Given the description of an element on the screen output the (x, y) to click on. 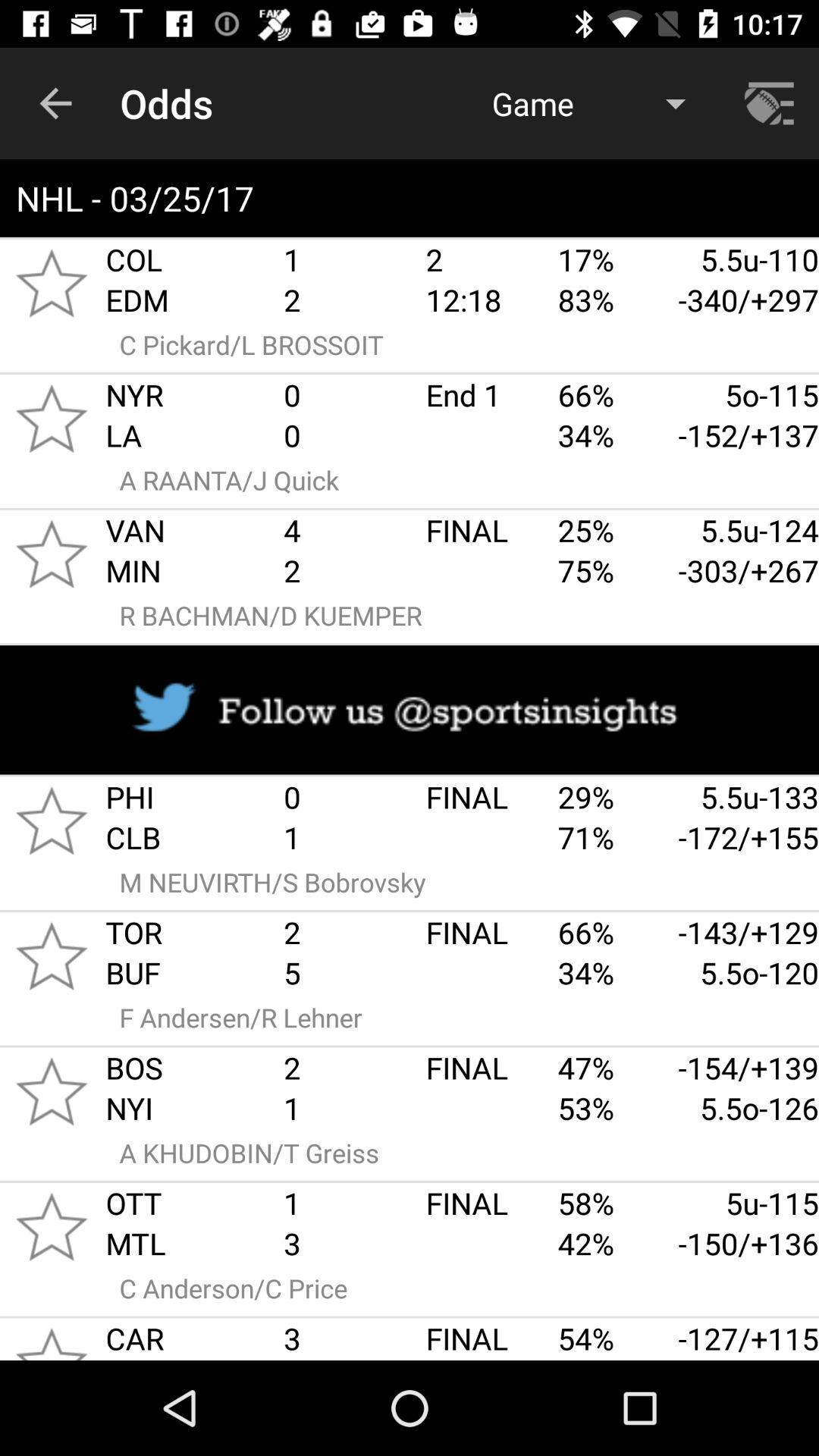
go to like (51, 955)
